Given the description of an element on the screen output the (x, y) to click on. 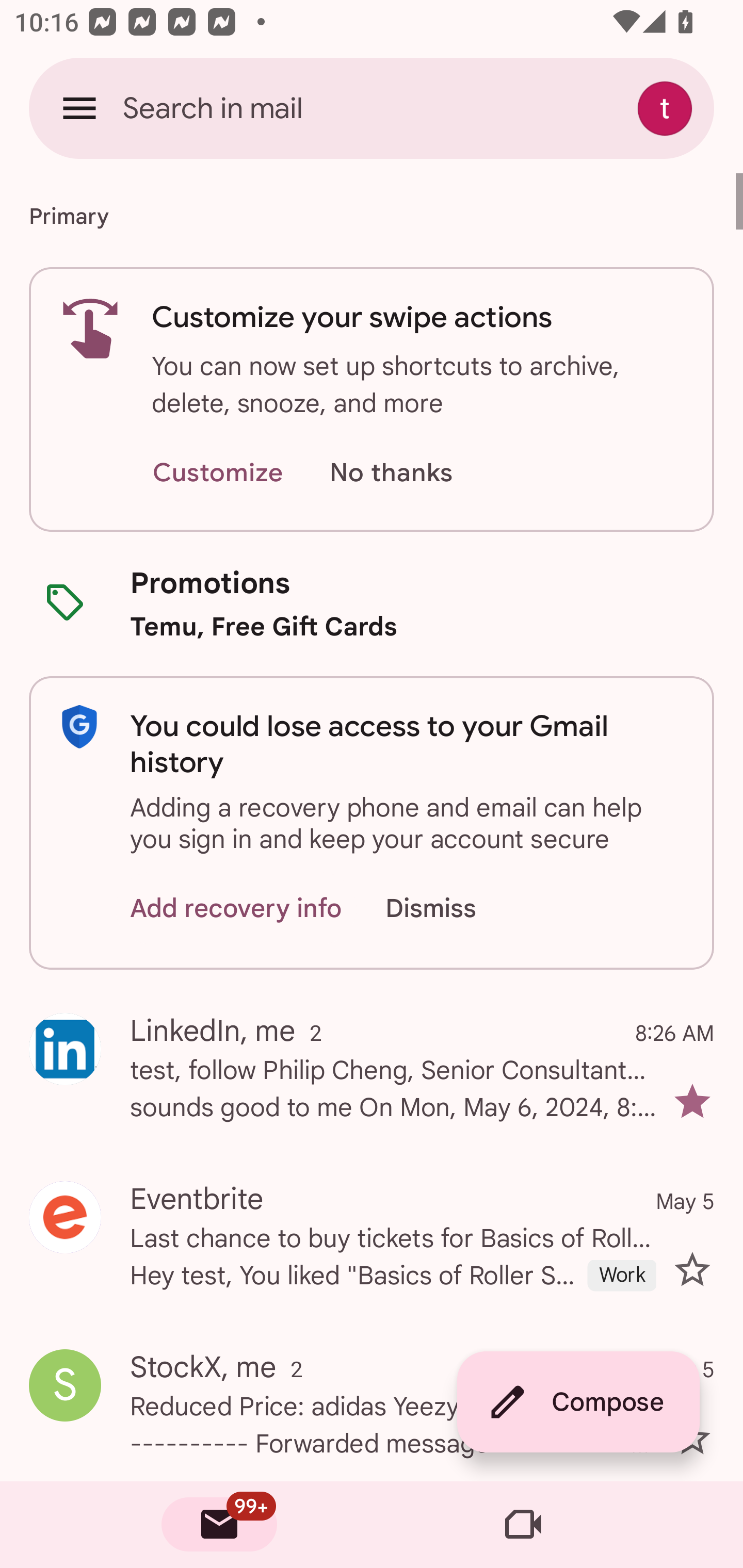
Open navigation drawer (79, 108)
Customize (217, 473)
No thanks (390, 473)
Promotions Temu, Free Gift Cards (371, 603)
Add recovery info (235, 908)
Dismiss (449, 908)
Compose (577, 1401)
Meet (523, 1524)
